Given the description of an element on the screen output the (x, y) to click on. 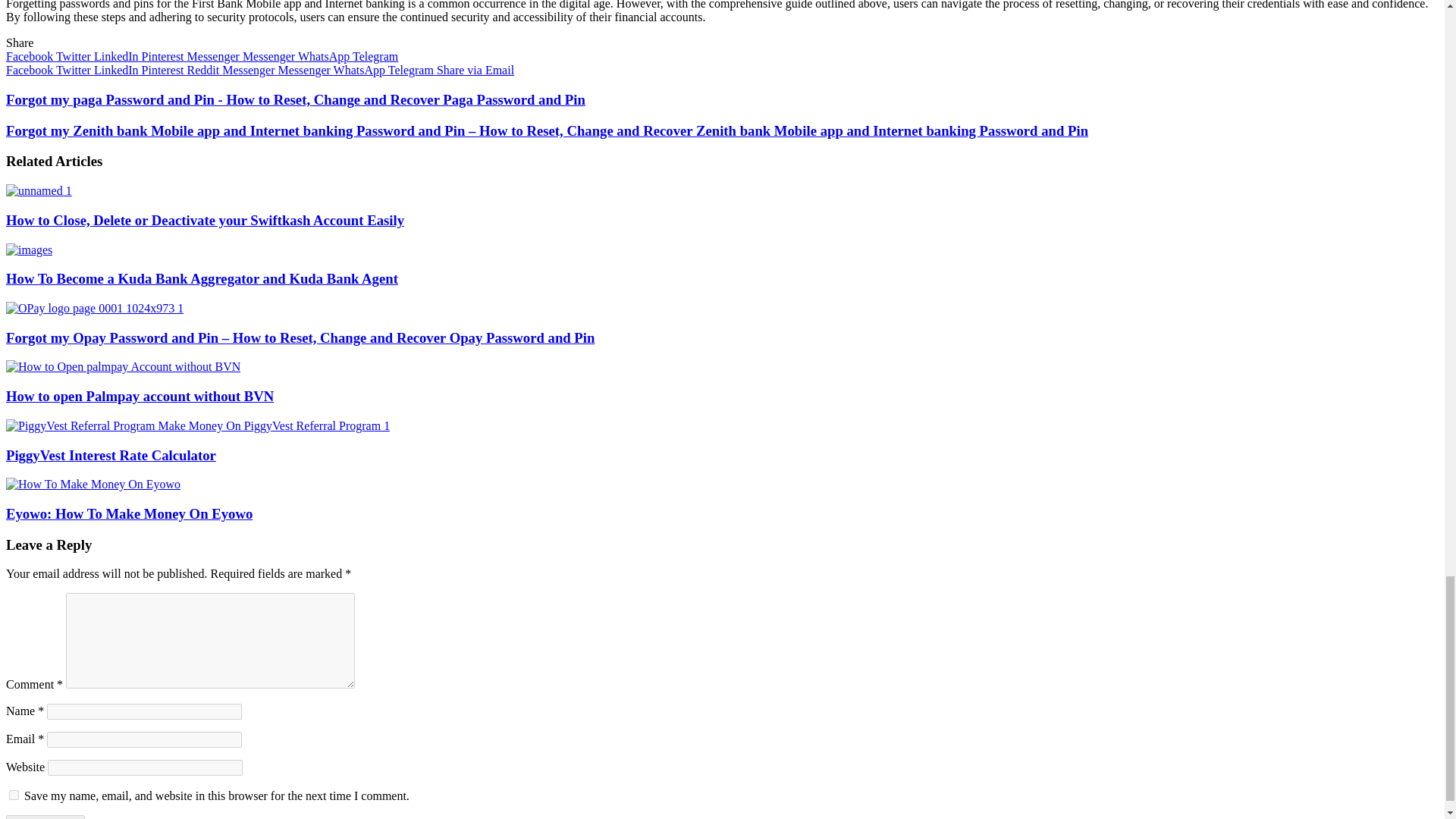
WhatsApp (325, 56)
Facebook (30, 69)
Messenger (215, 56)
Telegram (374, 56)
LinkedIn (117, 56)
Twitter (75, 69)
Facebook (30, 56)
Pinterest (164, 56)
Messenger (270, 56)
Twitter (75, 56)
LinkedIn (117, 56)
Twitter (75, 56)
Reddit (204, 69)
LinkedIn (117, 69)
Facebook (30, 56)
